Given the description of an element on the screen output the (x, y) to click on. 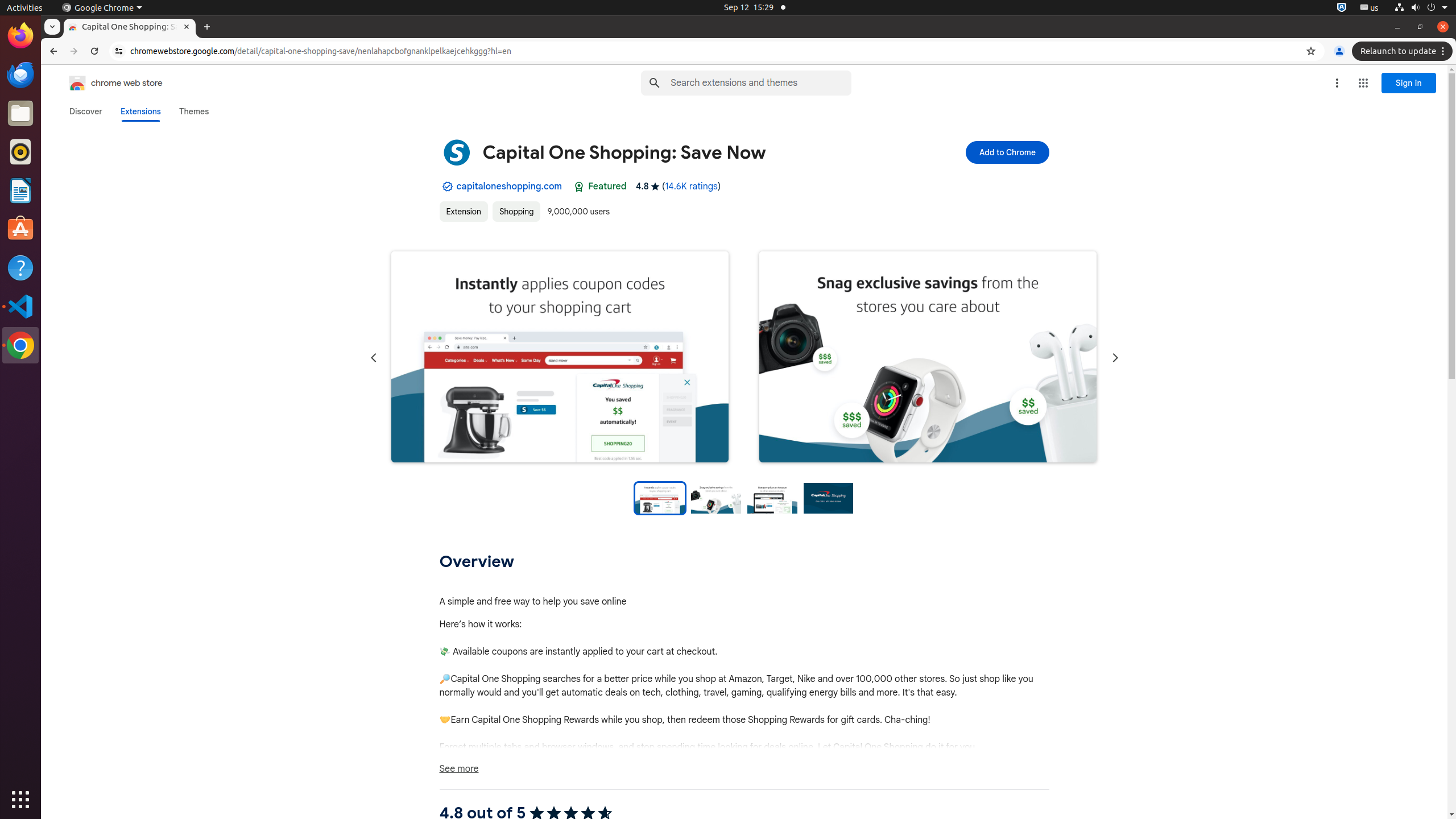
Item media 1 screenshot Element type: push-button (559, 357)
Relaunch to update Element type: push-button (1403, 50)
Files Element type: push-button (20, 113)
Google apps Element type: push-button (1362, 82)
Sign in Element type: link (1408, 82)
